Given the description of an element on the screen output the (x, y) to click on. 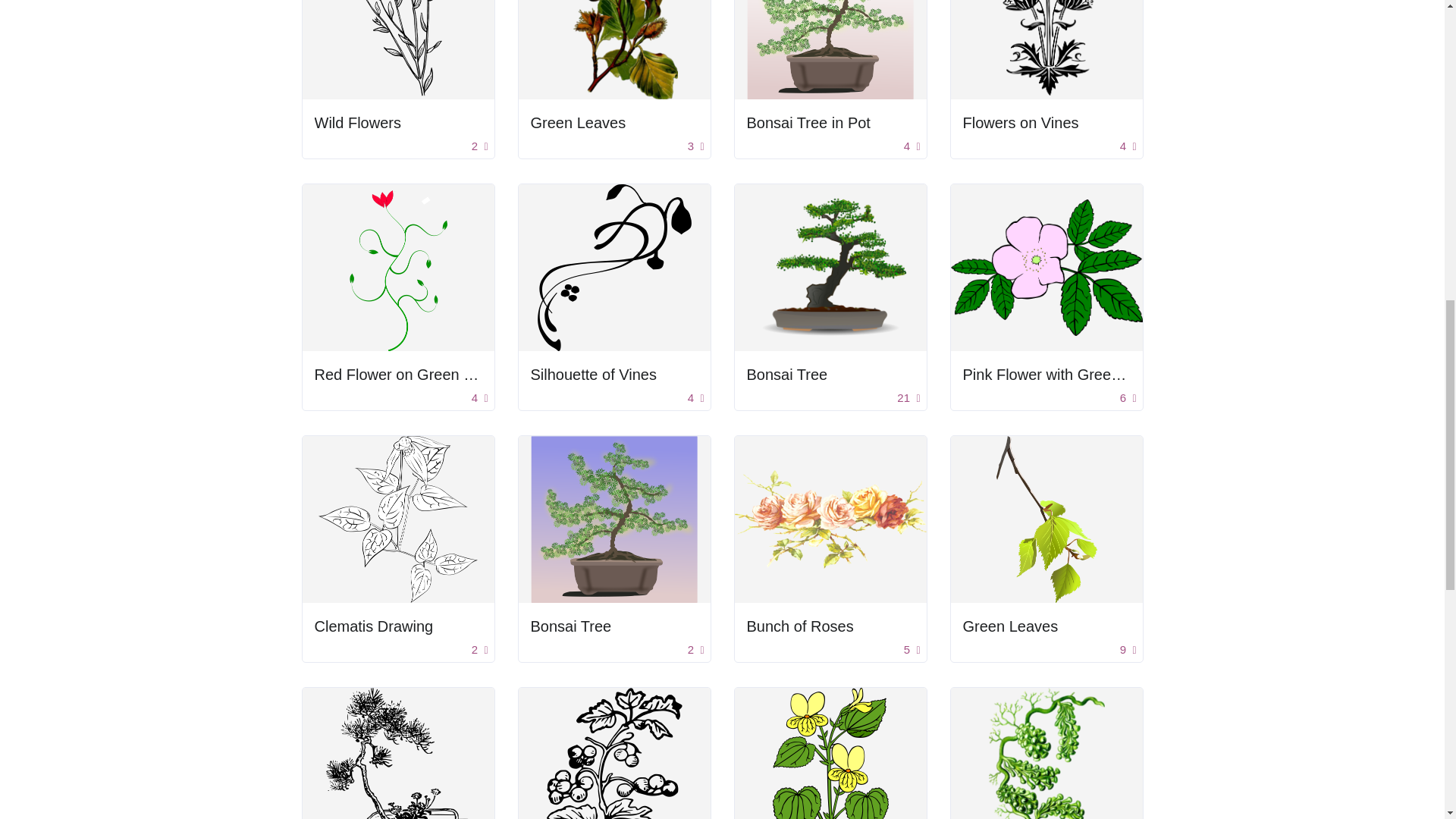
Bonsai Tree (786, 374)
Green Leaves (614, 122)
Clematis Drawing (397, 626)
Bonsai Tree in Pot (807, 122)
21 people liked this (908, 398)
Bonsai Tree (571, 626)
Silhouette of Vines (614, 374)
4 people liked this (1128, 146)
Bonsai Tree (829, 374)
4 people liked this (479, 398)
